Given the description of an element on the screen output the (x, y) to click on. 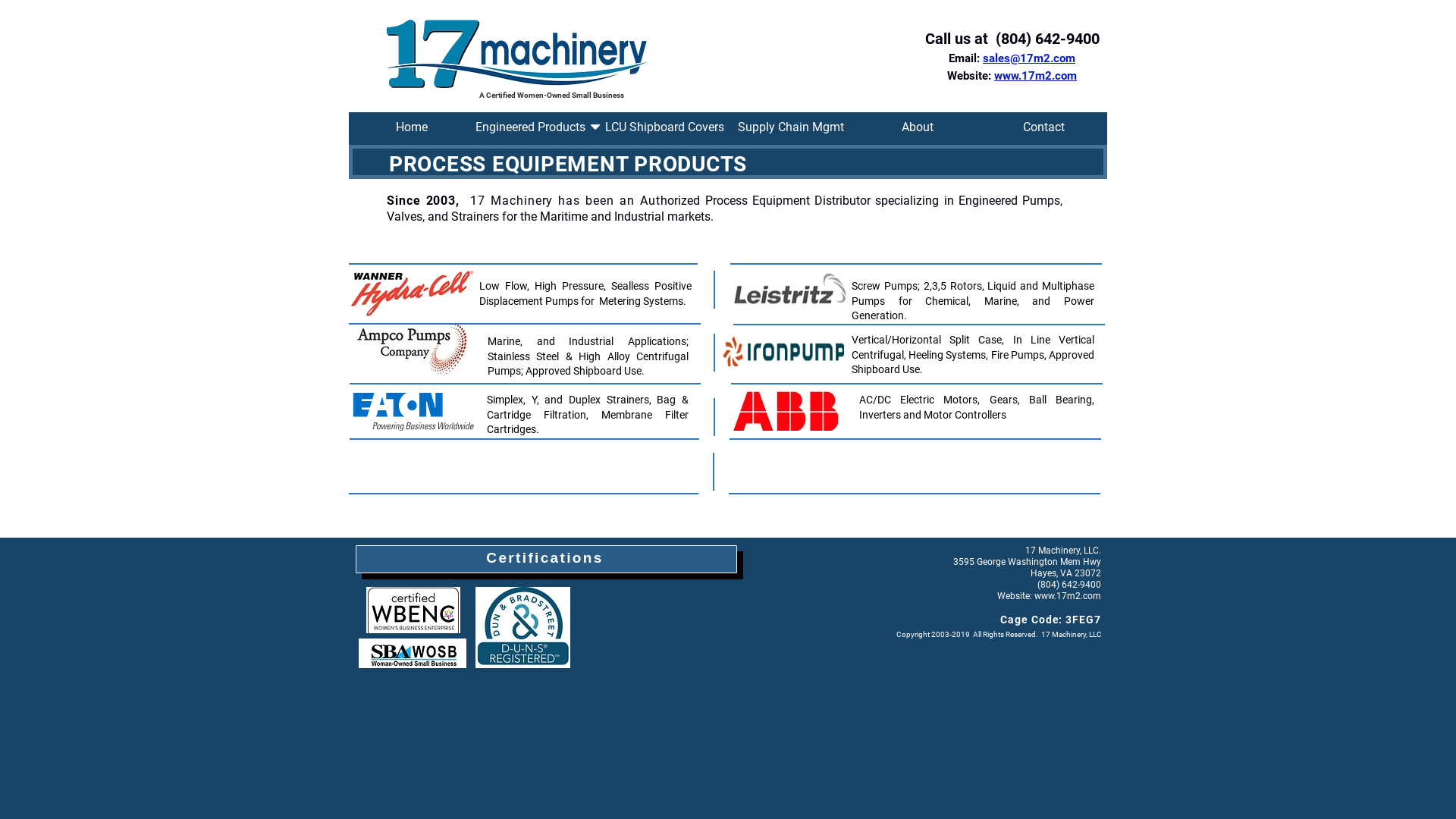
 (804) 642-9400 Element type: text (1068, 584)
About Element type: text (917, 128)
Home Element type: text (411, 128)
17 Machinery, LLC. Element type: text (1063, 550)
Contact Element type: text (1043, 128)
Supply Chain Mgmt Element type: text (791, 128)
Website: www.17m2.co Element type: text (1044, 595)
Engineered Products Element type: text (538, 128)
Hayes, VA 23072 Element type: text (1065, 572)
3595 George Washington Mem Hwy Element type: text (1027, 561)
LCU Shipboard Covers Element type: text (664, 128)
